Given the description of an element on the screen output the (x, y) to click on. 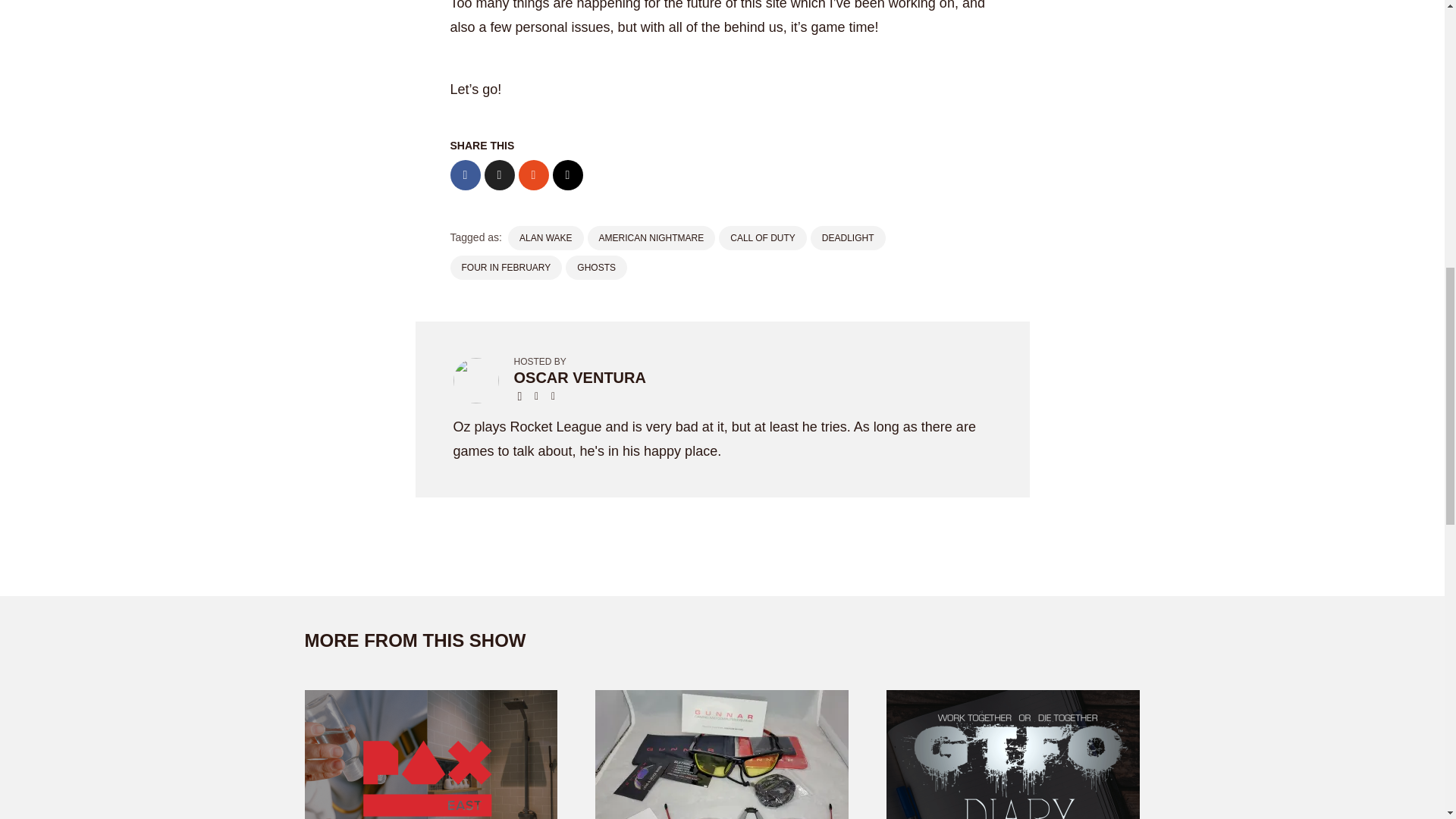
AMERICAN NIGHTMARE (652, 238)
ALAN WAKE (545, 238)
share (1403, 35)
Subscribe (1364, 35)
